Given the description of an element on the screen output the (x, y) to click on. 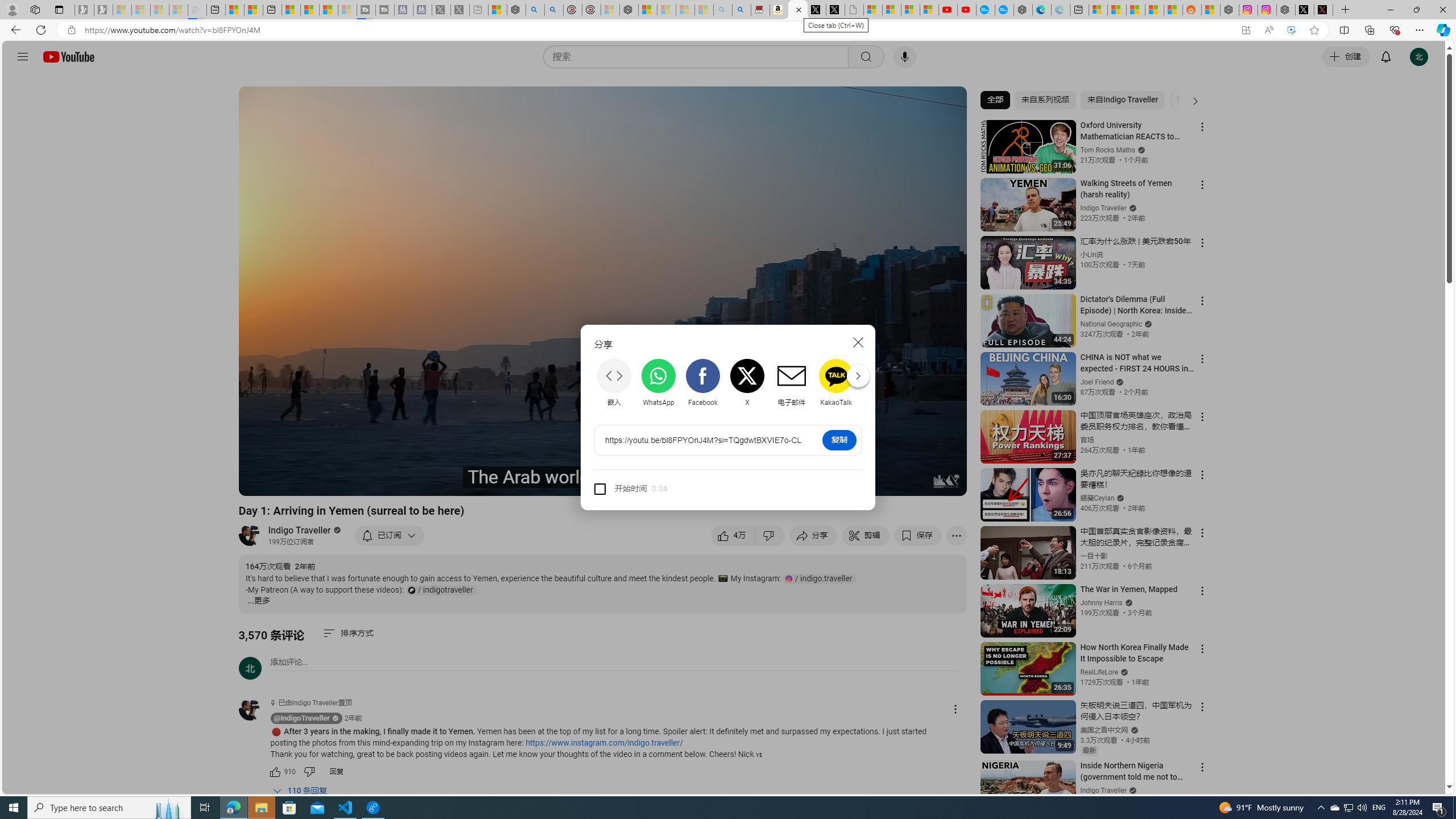
WhatsApp (658, 383)
WhatsApp (658, 382)
